Given the description of an element on the screen output the (x, y) to click on. 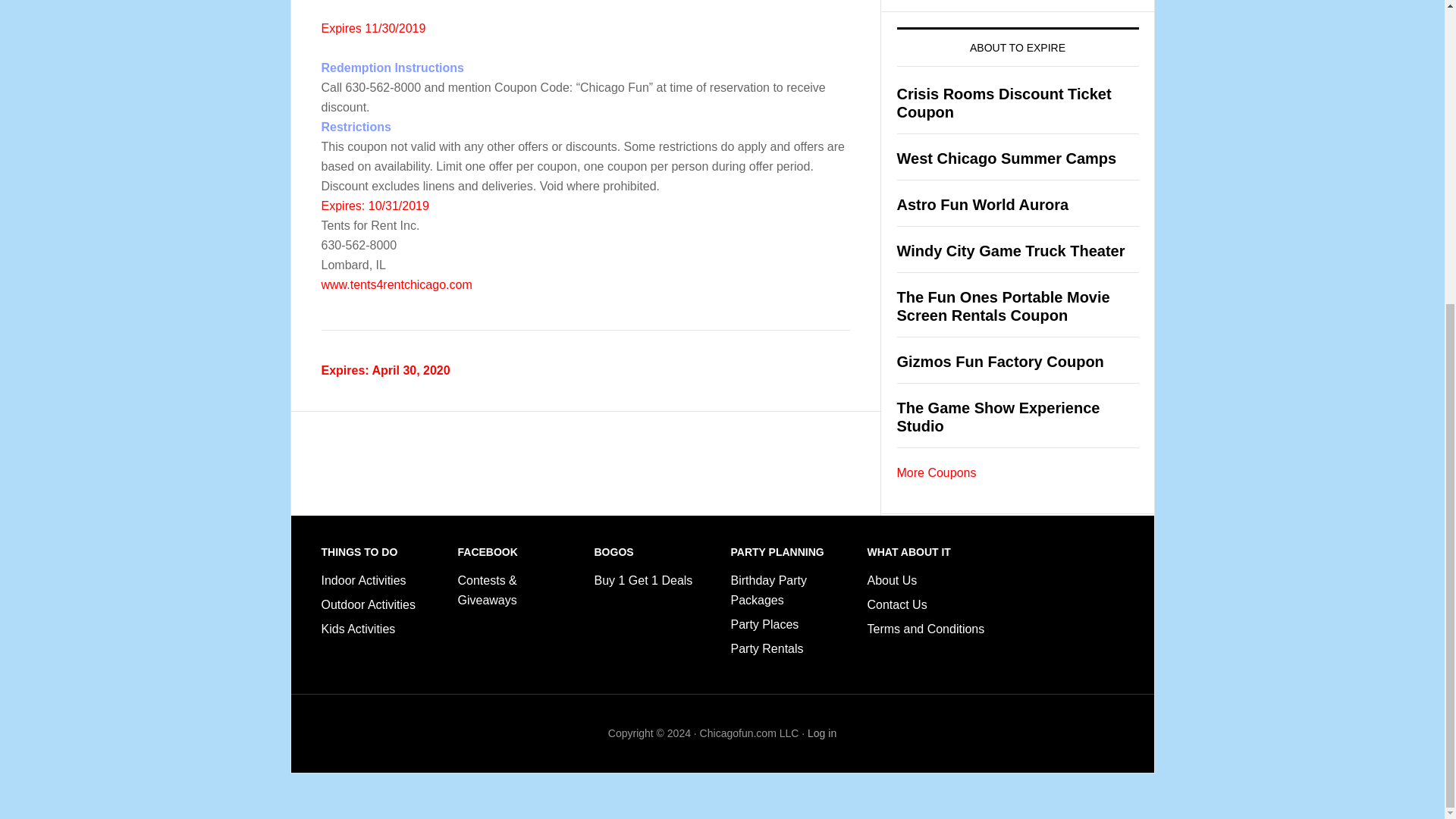
Gizmos Fun Factory Coupon (999, 361)
www.tents4rentchicago.com (396, 284)
Party Rentals (766, 648)
Buy 1 Get 1 Deals (643, 580)
Astro Fun World Aurora (982, 204)
More Coupons (935, 472)
Outdoor Activities (368, 604)
West Chicago Summer Camps (1006, 158)
Windy City Game Truck Theater (1010, 250)
About To Expire (935, 472)
